Given the description of an element on the screen output the (x, y) to click on. 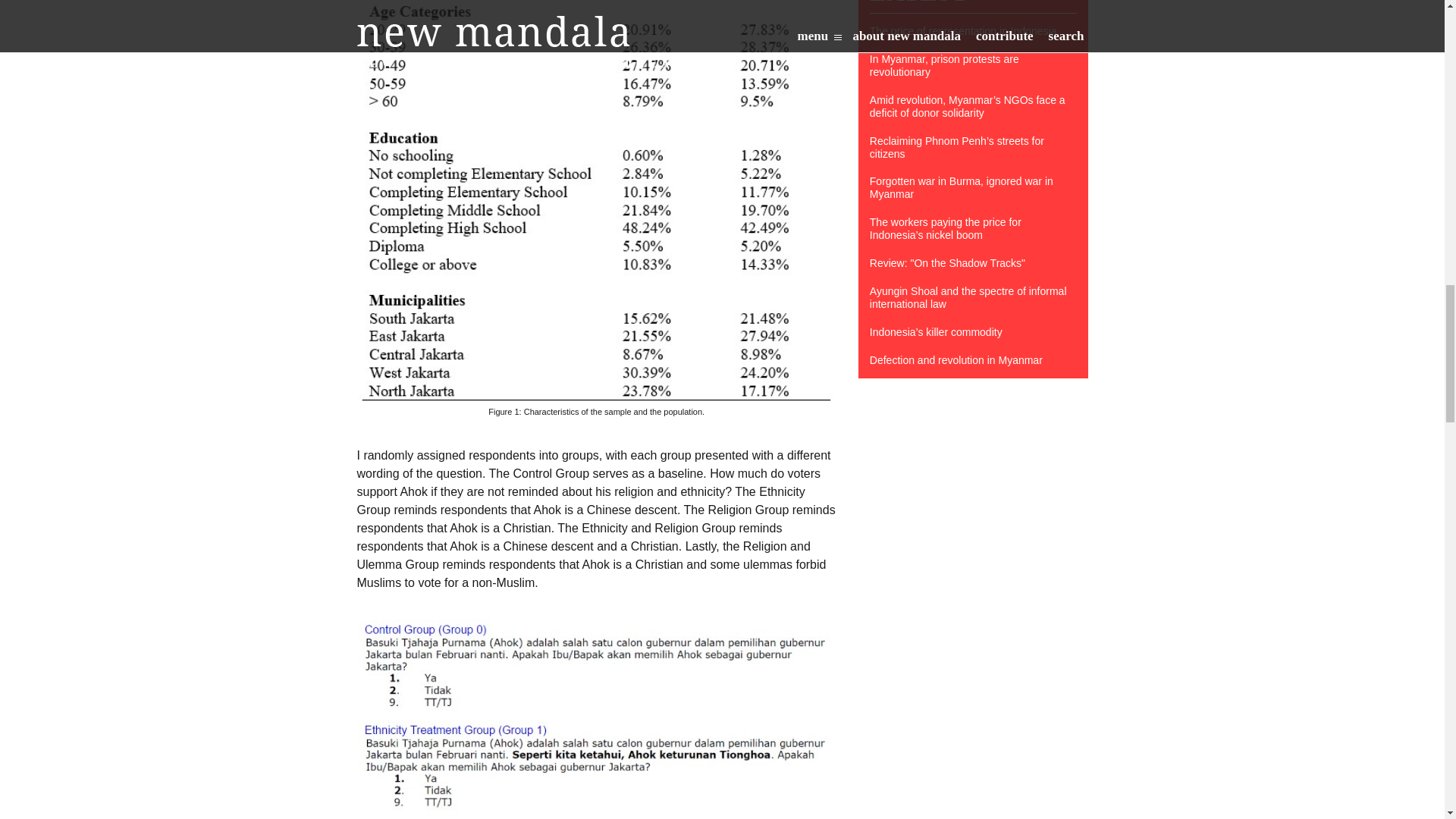
In Myanmar, prison protests are revolutionary (973, 65)
Forgotten war in Burma, ignored war in Myanmar (973, 187)
The price of representation in Indonesia (973, 31)
LATEST (918, 2)
